Given the description of an element on the screen output the (x, y) to click on. 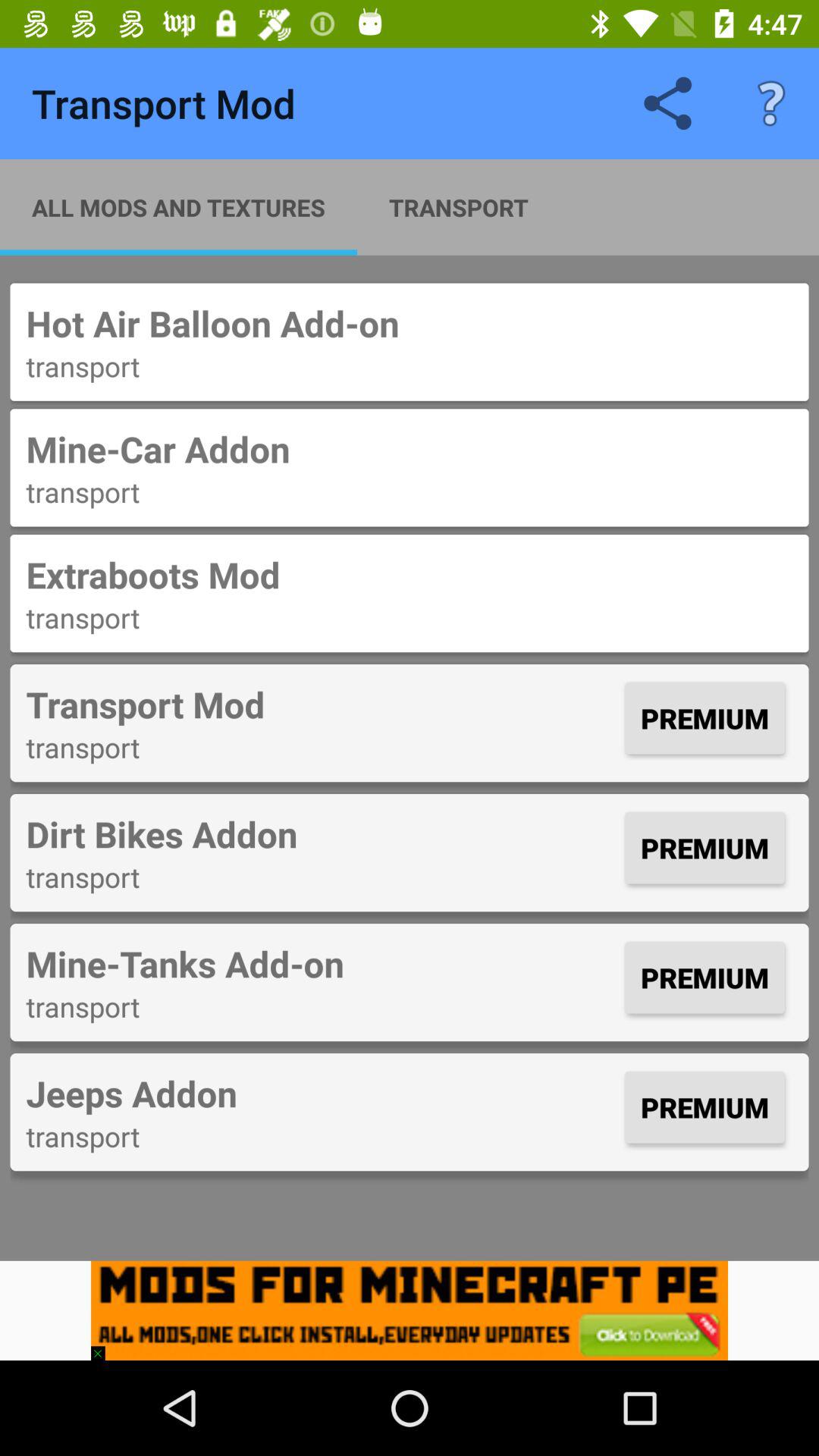
turn on the item below the transport item (409, 448)
